Given the description of an element on the screen output the (x, y) to click on. 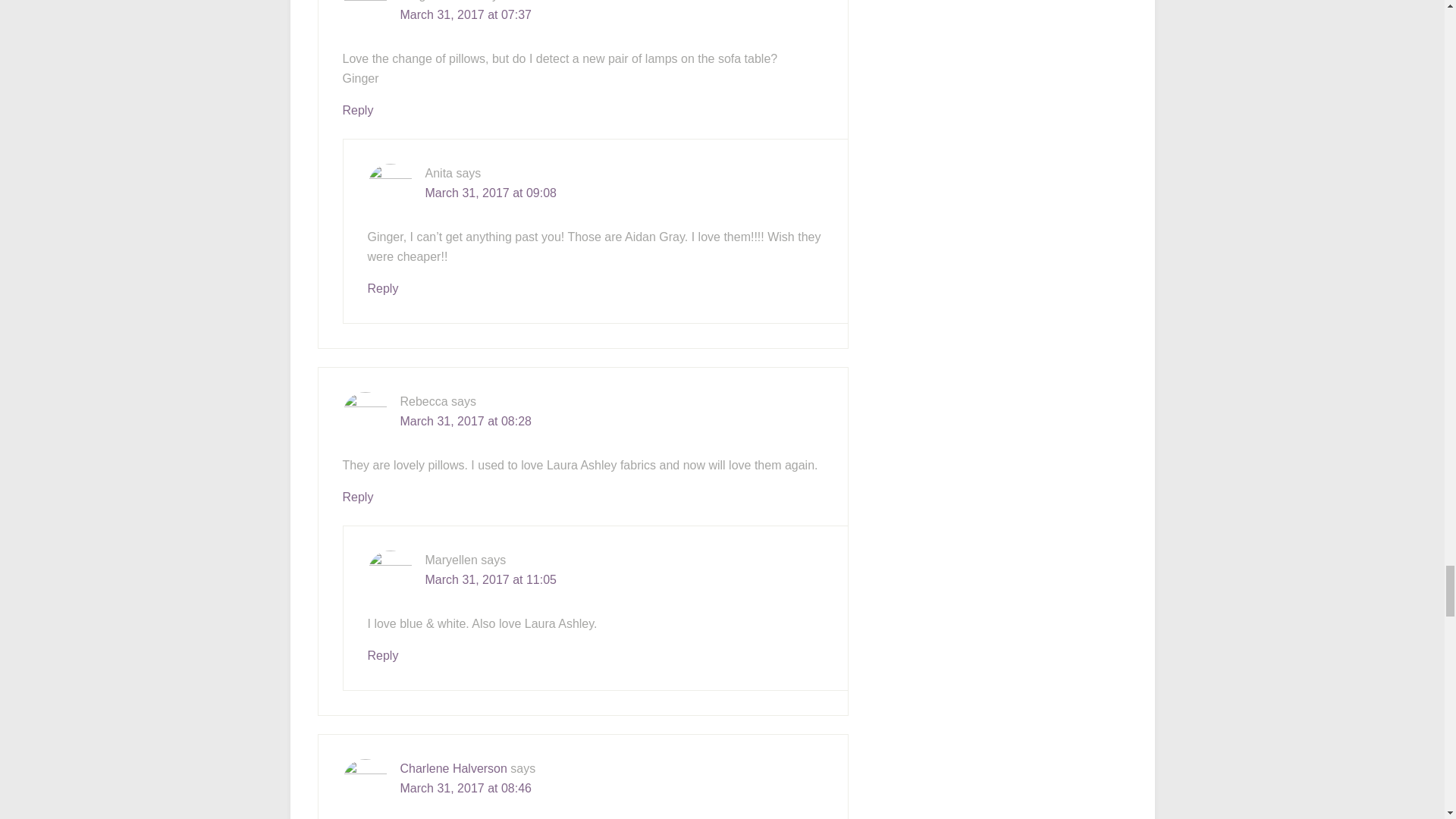
Reply (381, 287)
March 31, 2017 at 07:37 (465, 14)
March 31, 2017 at 08:28 (465, 420)
Reply (358, 496)
Reply (358, 110)
March 31, 2017 at 09:08 (490, 192)
